Given the description of an element on the screen output the (x, y) to click on. 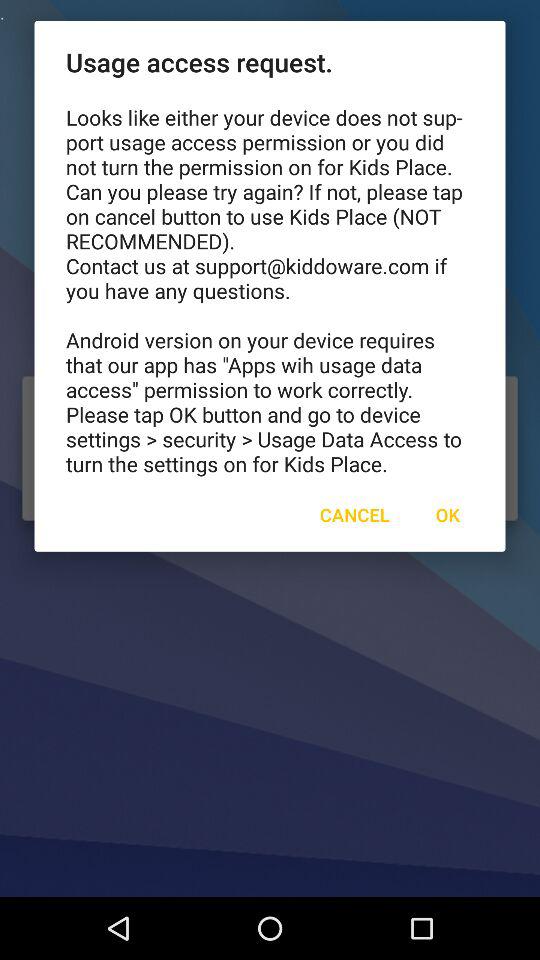
press ok (447, 514)
